Given the description of an element on the screen output the (x, y) to click on. 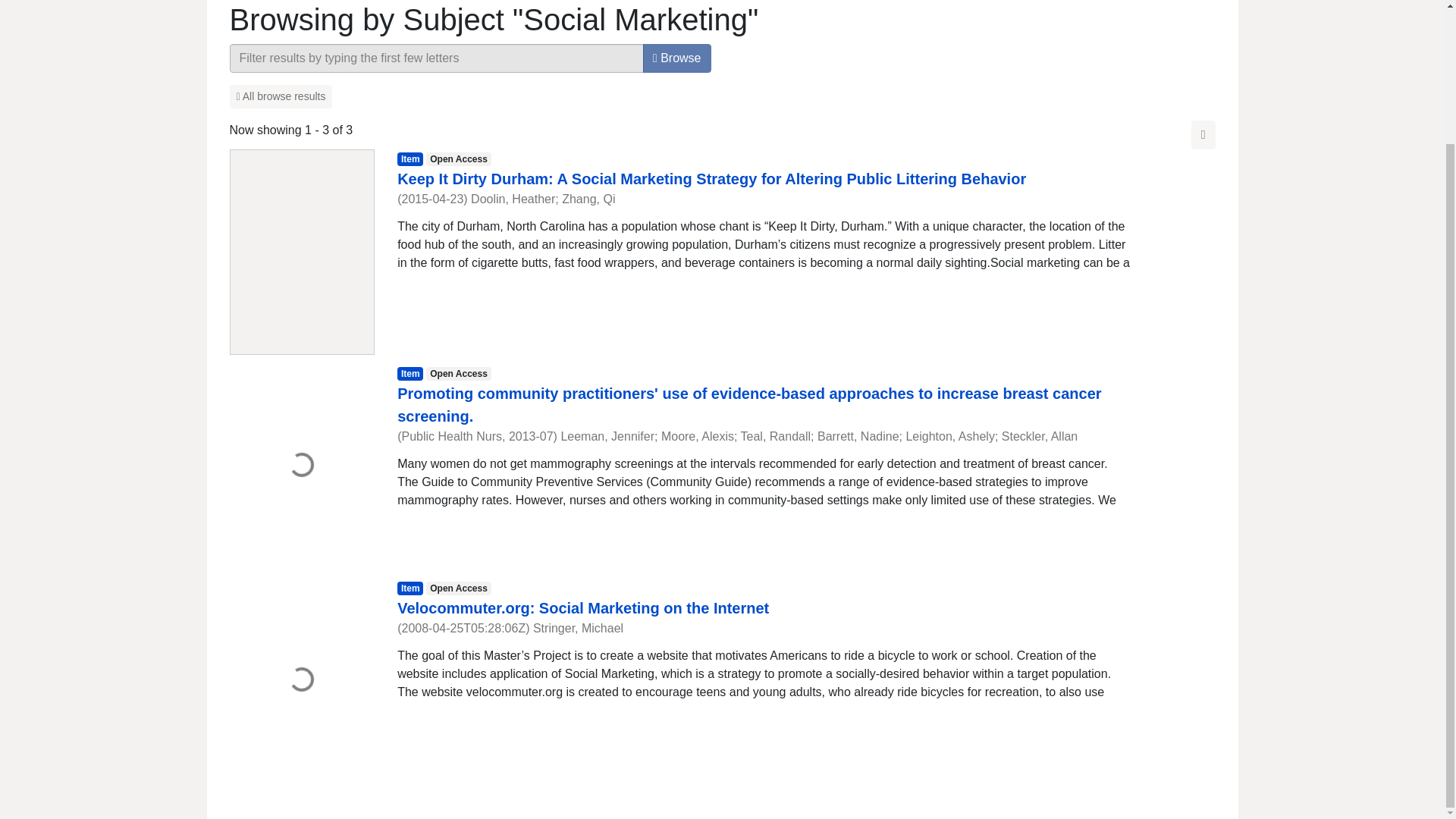
All browse results (279, 96)
Browse (677, 58)
